Given the description of an element on the screen output the (x, y) to click on. 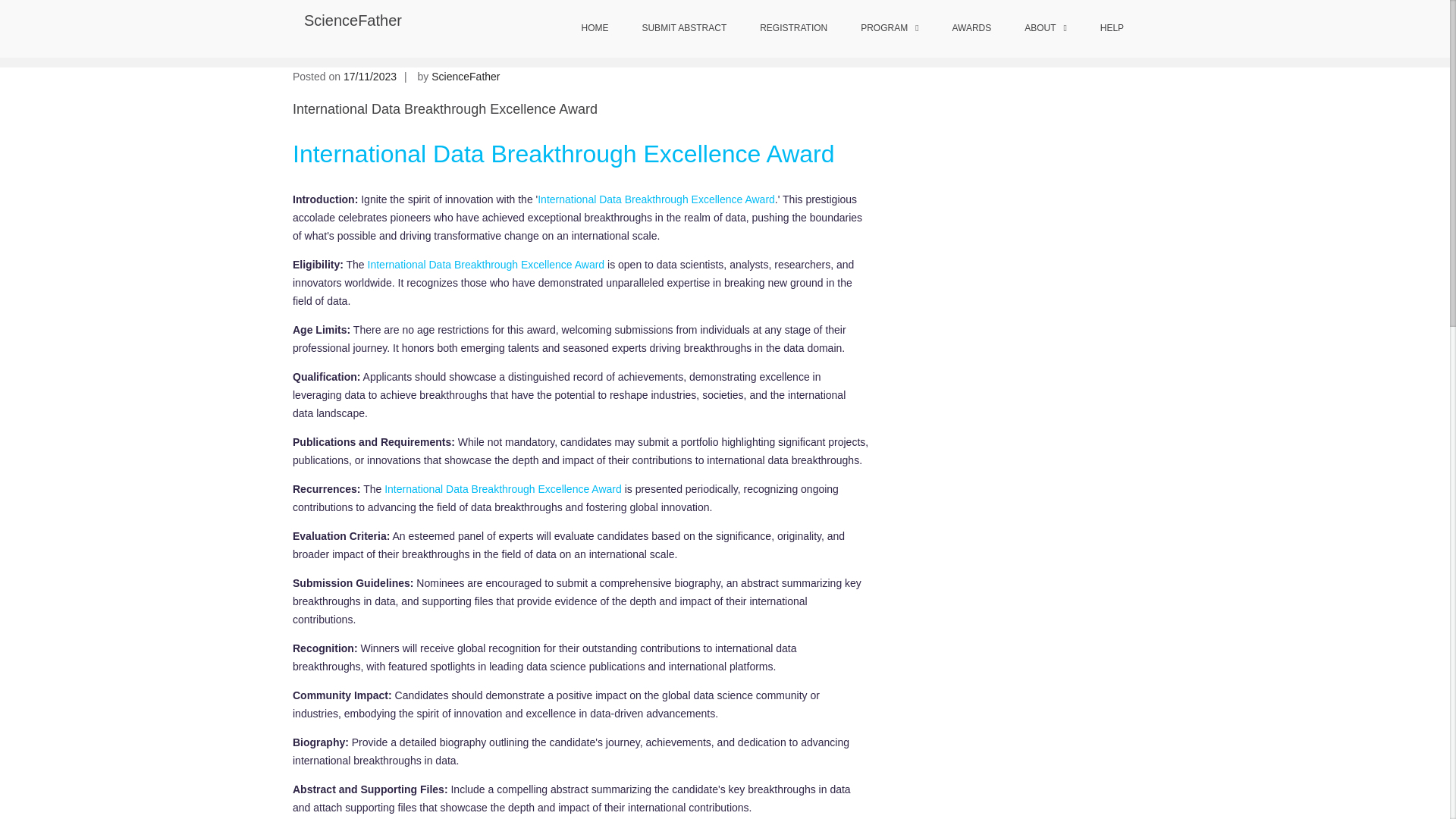
PROGRAM (889, 28)
Home (763, 29)
REGISTRATION (793, 28)
International Data Breakthrough Excellence Award (502, 489)
International Data Breakthrough Excellence Award (655, 199)
SUBMIT ABSTRACT (683, 28)
AWARDS (971, 28)
International Data Breakthrough Excellence Award (486, 264)
International Data Breakthrough Excellence Award (563, 153)
HELP (1111, 28)
ABOUT (1045, 28)
ScienceFather (464, 76)
ScienceFather (352, 20)
Posts (802, 29)
HOME (595, 28)
